Given the description of an element on the screen output the (x, y) to click on. 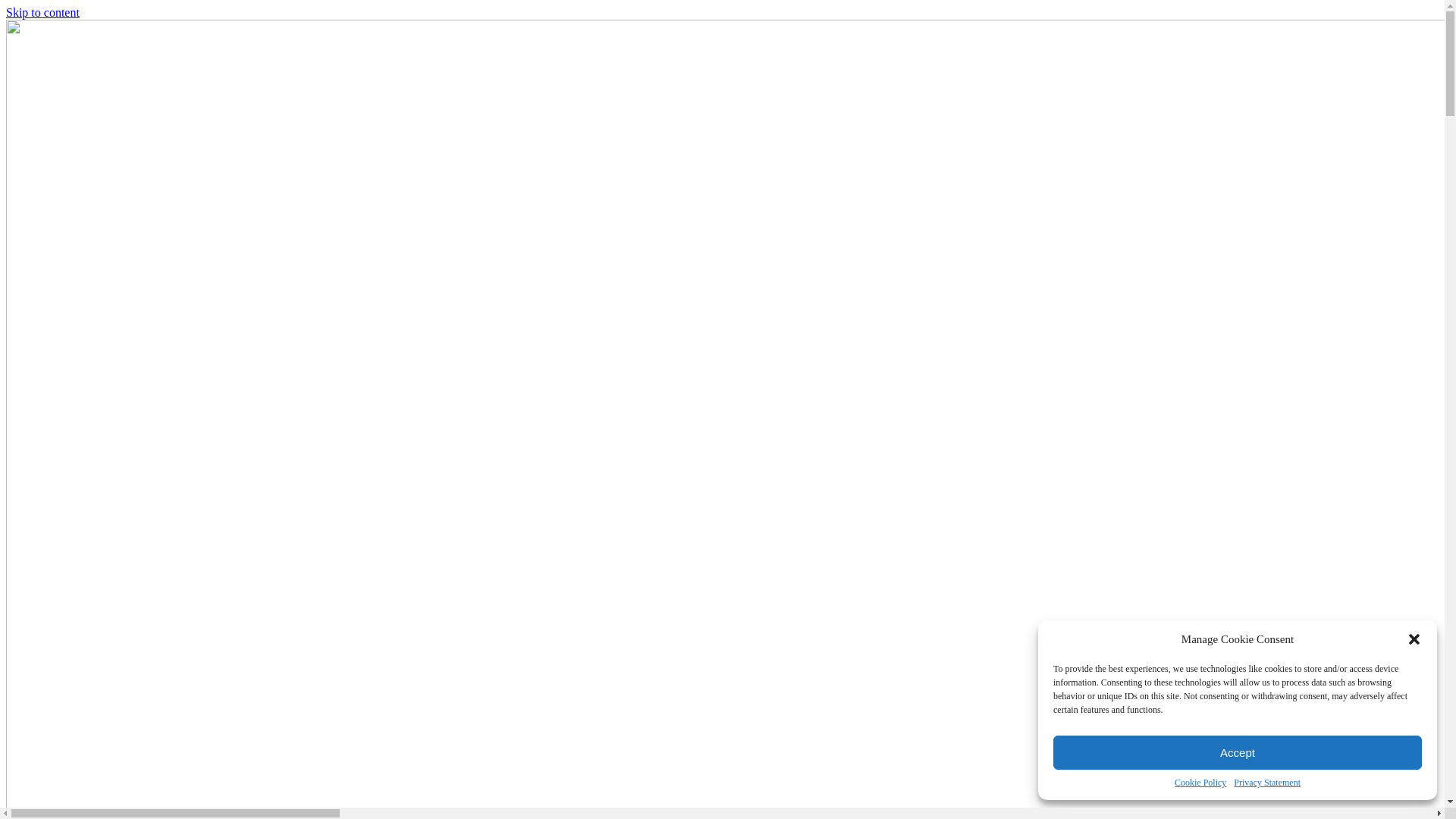
Skip to content Element type: text (42, 12)
Accept Element type: text (1237, 752)
Cookie Policy Element type: text (1200, 782)
Privacy Statement Element type: text (1266, 782)
